Given the description of an element on the screen output the (x, y) to click on. 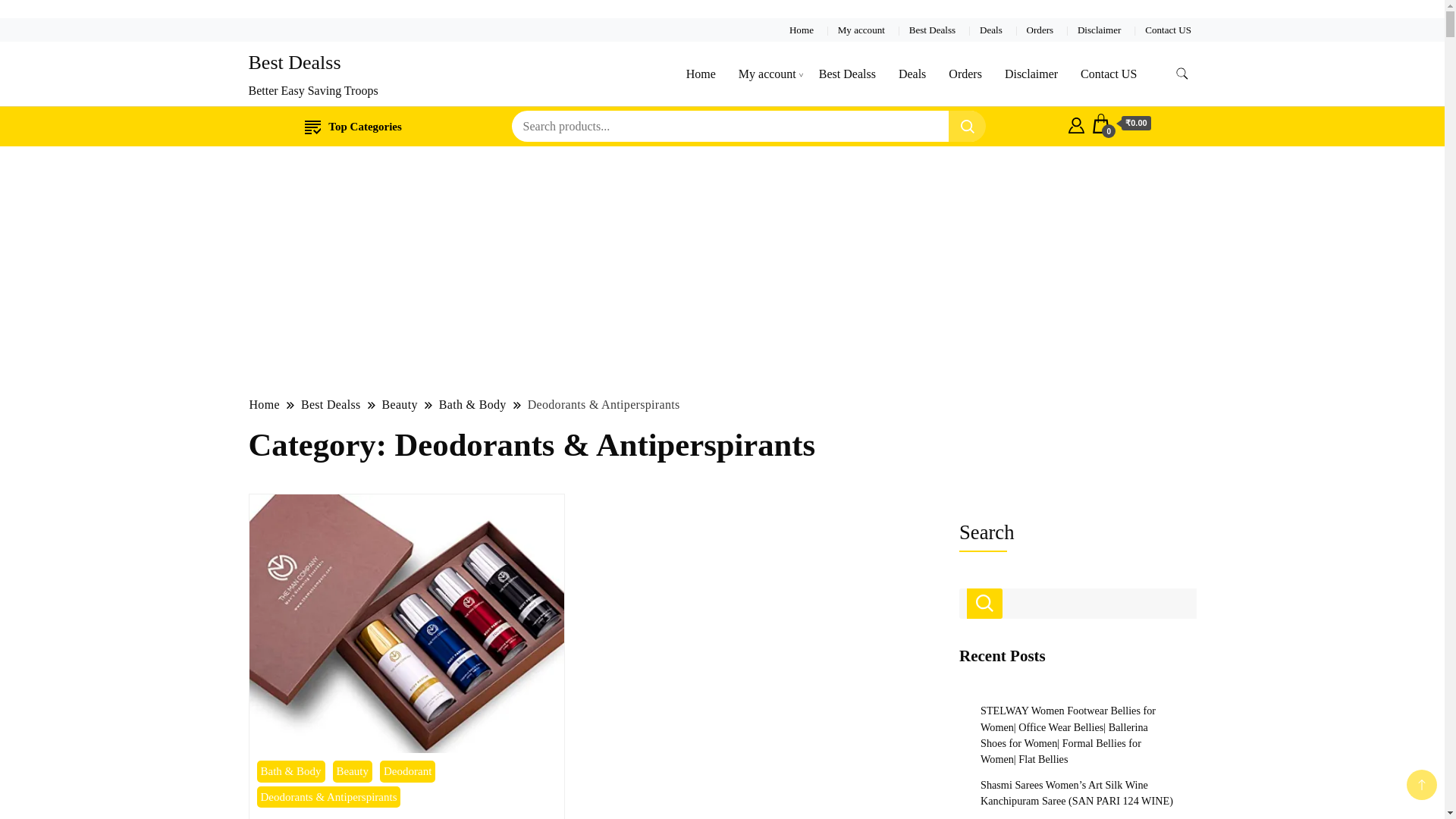
My account (861, 30)
Disclaimer (1099, 30)
Deals (991, 30)
Home (801, 30)
Contact US (1167, 30)
Best Dealss (847, 74)
My account (767, 74)
My Account (1076, 123)
Best Dealss (932, 30)
Orders (1040, 30)
Cart (1120, 123)
Top Categories (352, 126)
Best Dealss (294, 62)
Contact US (1108, 74)
Disclaimer (1030, 74)
